Given the description of an element on the screen output the (x, y) to click on. 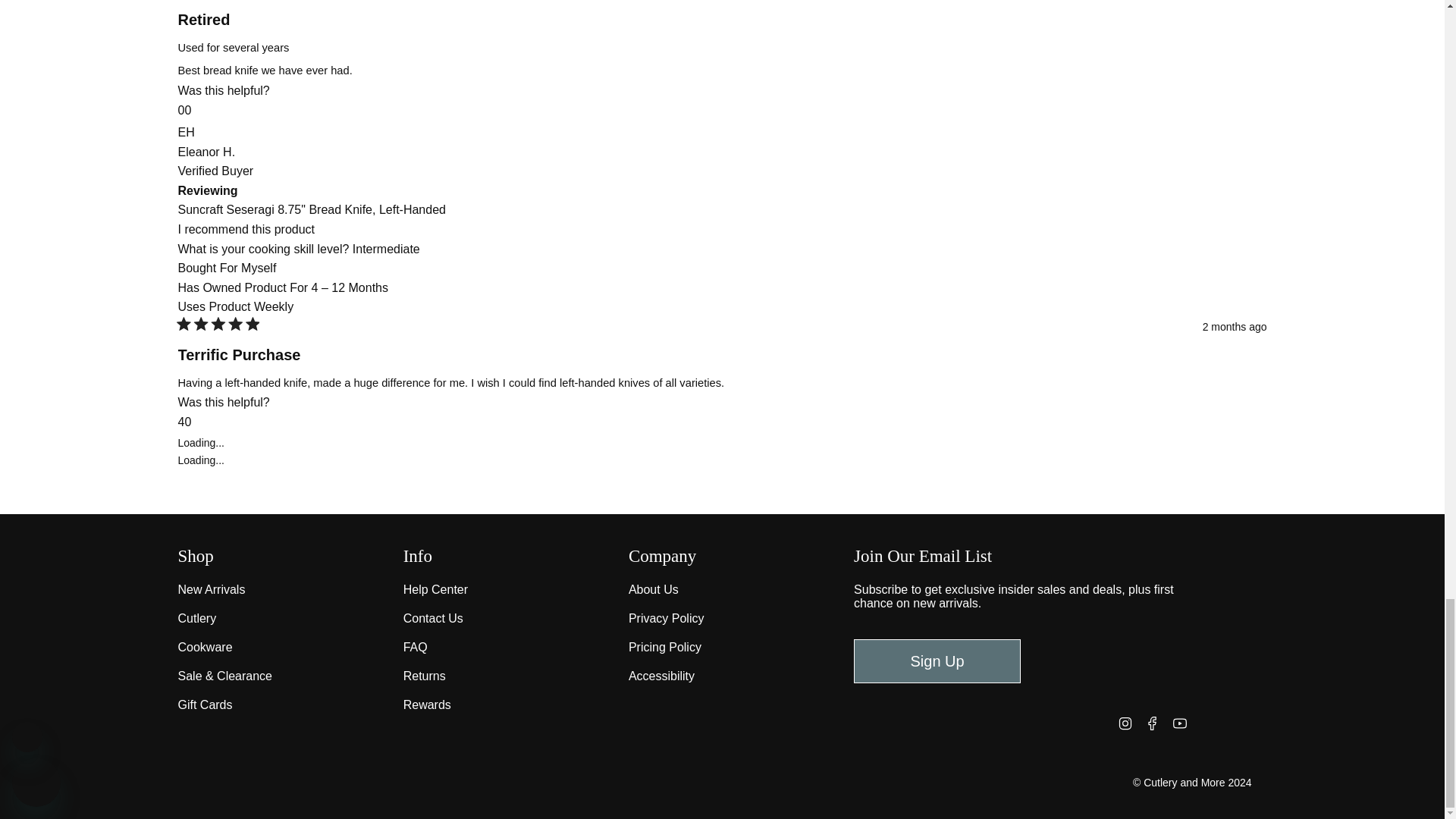
Cutlery and More on YouTube (1180, 721)
Cutlery and More on Facebook (1152, 721)
Cutlery and More on Instagram (1125, 721)
